Given the description of an element on the screen output the (x, y) to click on. 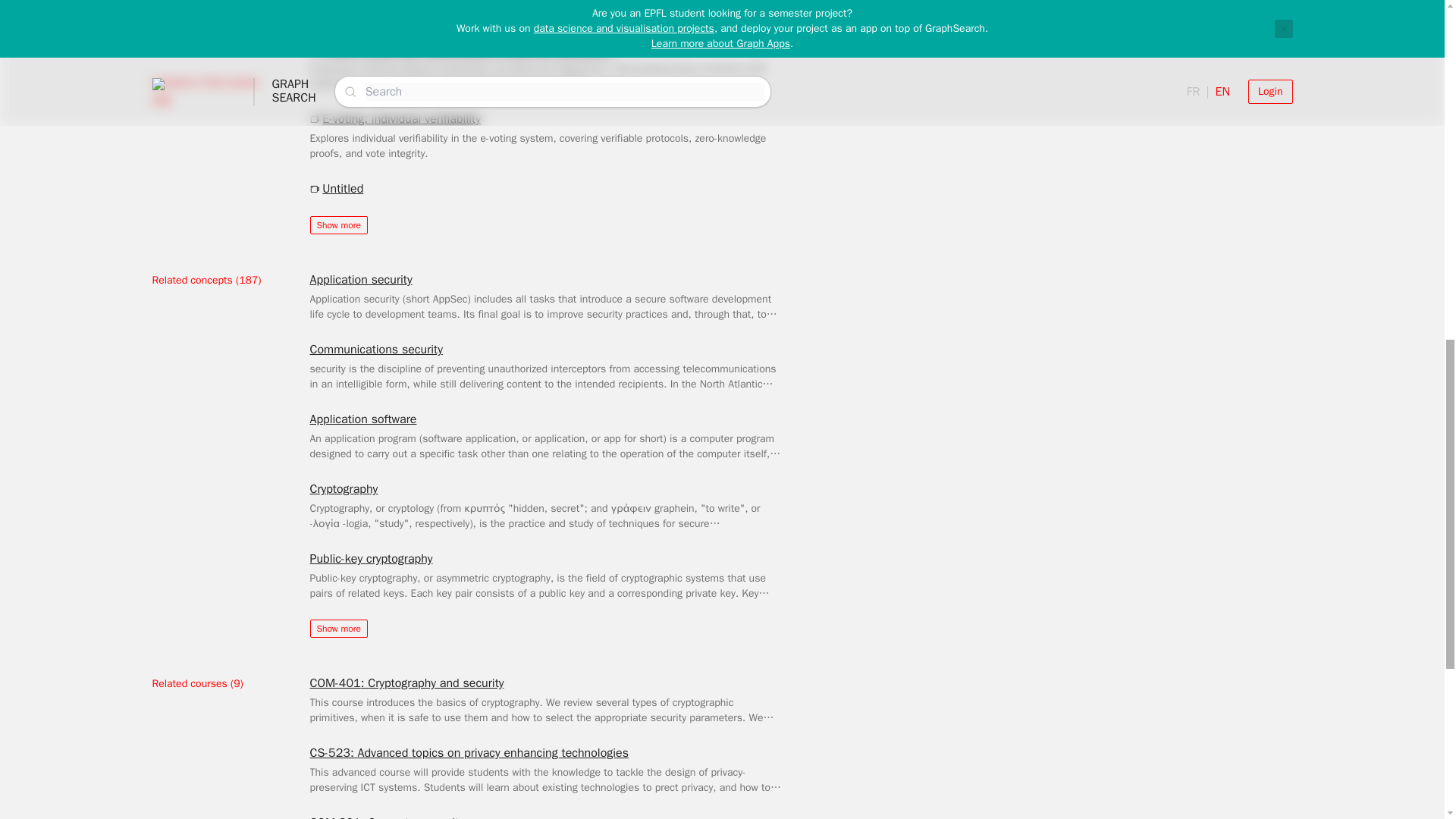
Application software (362, 419)
Show more (337, 628)
Application security (360, 280)
COM-301: Computer security (385, 816)
Cryptography (342, 488)
Communications security (375, 349)
Public-key cryptography (370, 558)
COM-401: Cryptography and security (405, 683)
Untitled (335, 188)
Privacy-Preserving Authentication: Mercurial Signatures (460, 49)
CS-523: Advanced topics on privacy enhancing technologies (468, 752)
E-voting: individual verifiability (394, 118)
Show more (337, 225)
